Given the description of an element on the screen output the (x, y) to click on. 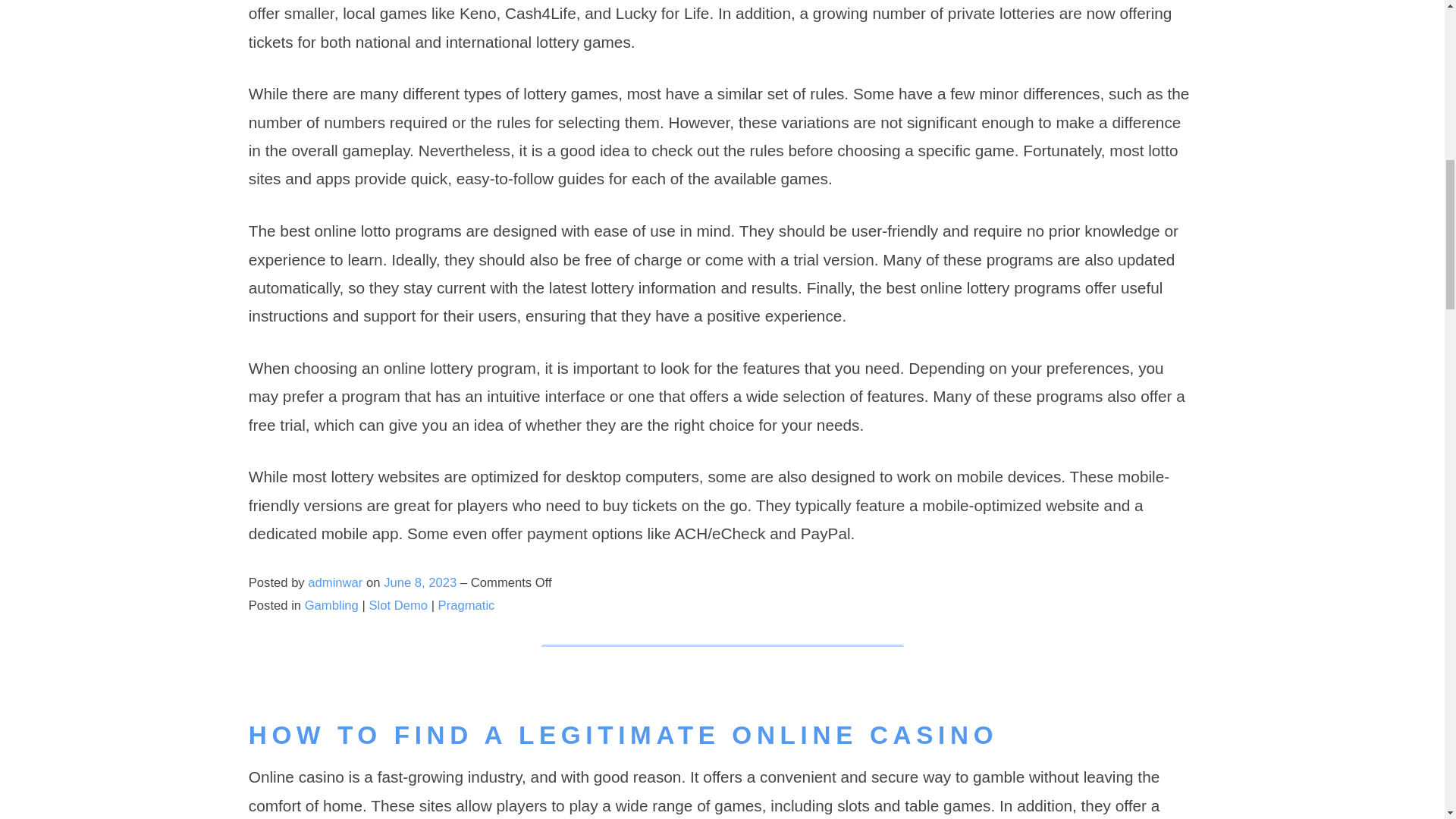
June 8, 2023 (422, 582)
adminwar (334, 582)
Pragmatic (466, 605)
Gambling (331, 605)
HOW TO FIND A LEGITIMATE ONLINE CASINO (622, 735)
Slot Demo (399, 605)
